Given the description of an element on the screen output the (x, y) to click on. 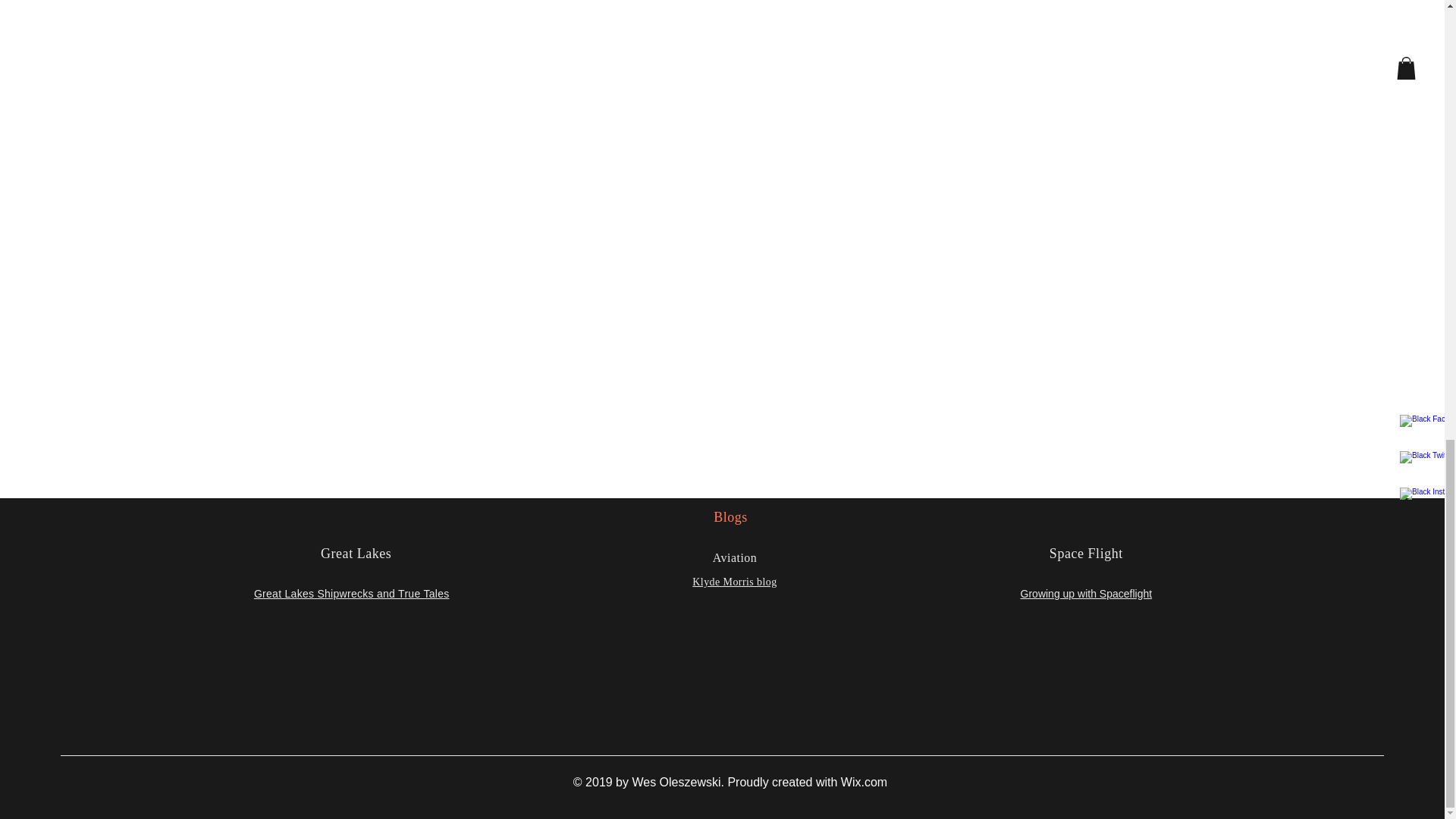
Klyde Morris blog (734, 582)
Wix.com (863, 781)
Great Lakes Shipwrecks and True Tales (351, 593)
Growing up with Spaceflight (1086, 593)
